Given the description of an element on the screen output the (x, y) to click on. 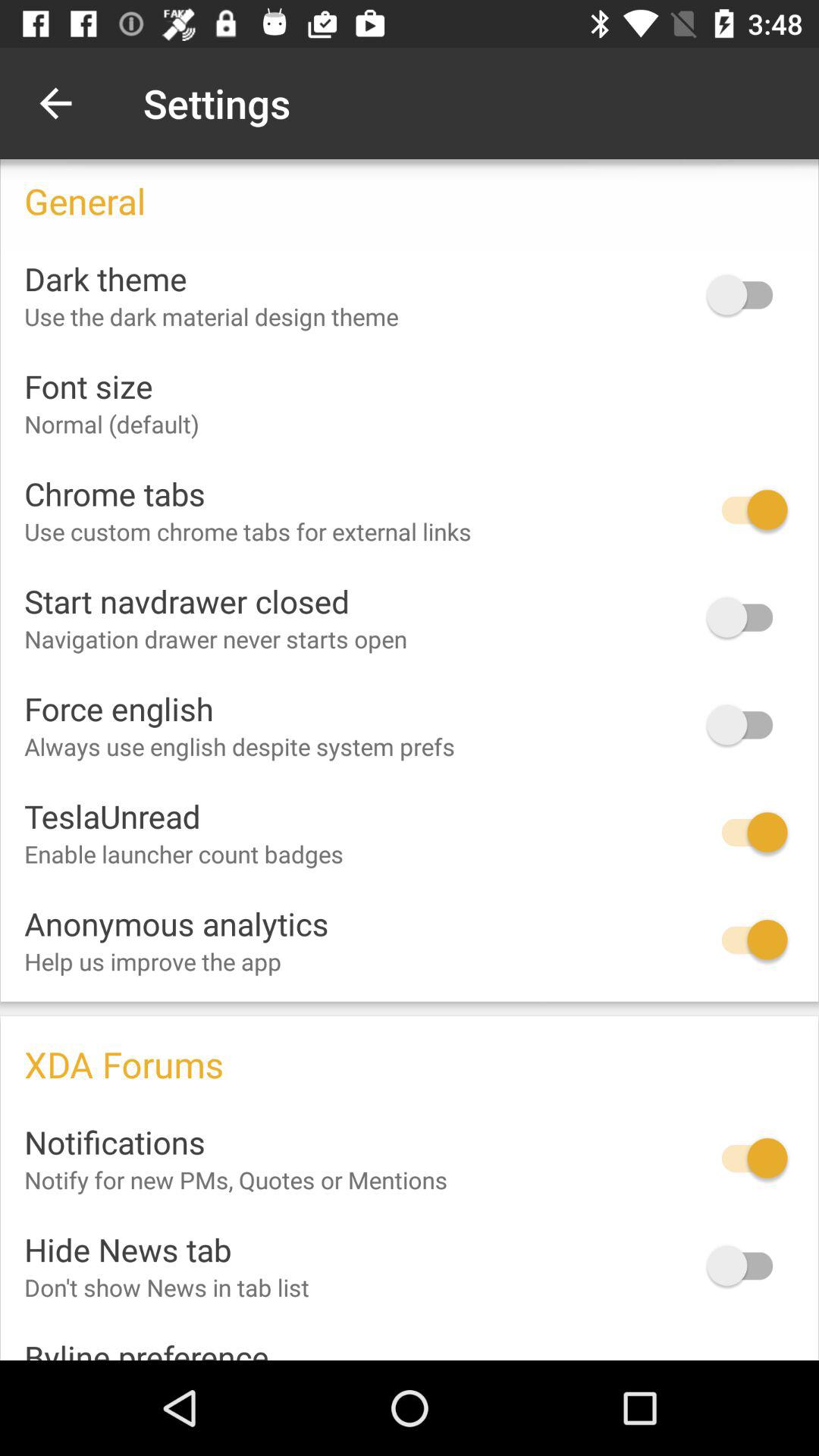
click the icon next to anonymous analytics (747, 939)
